Given the description of an element on the screen output the (x, y) to click on. 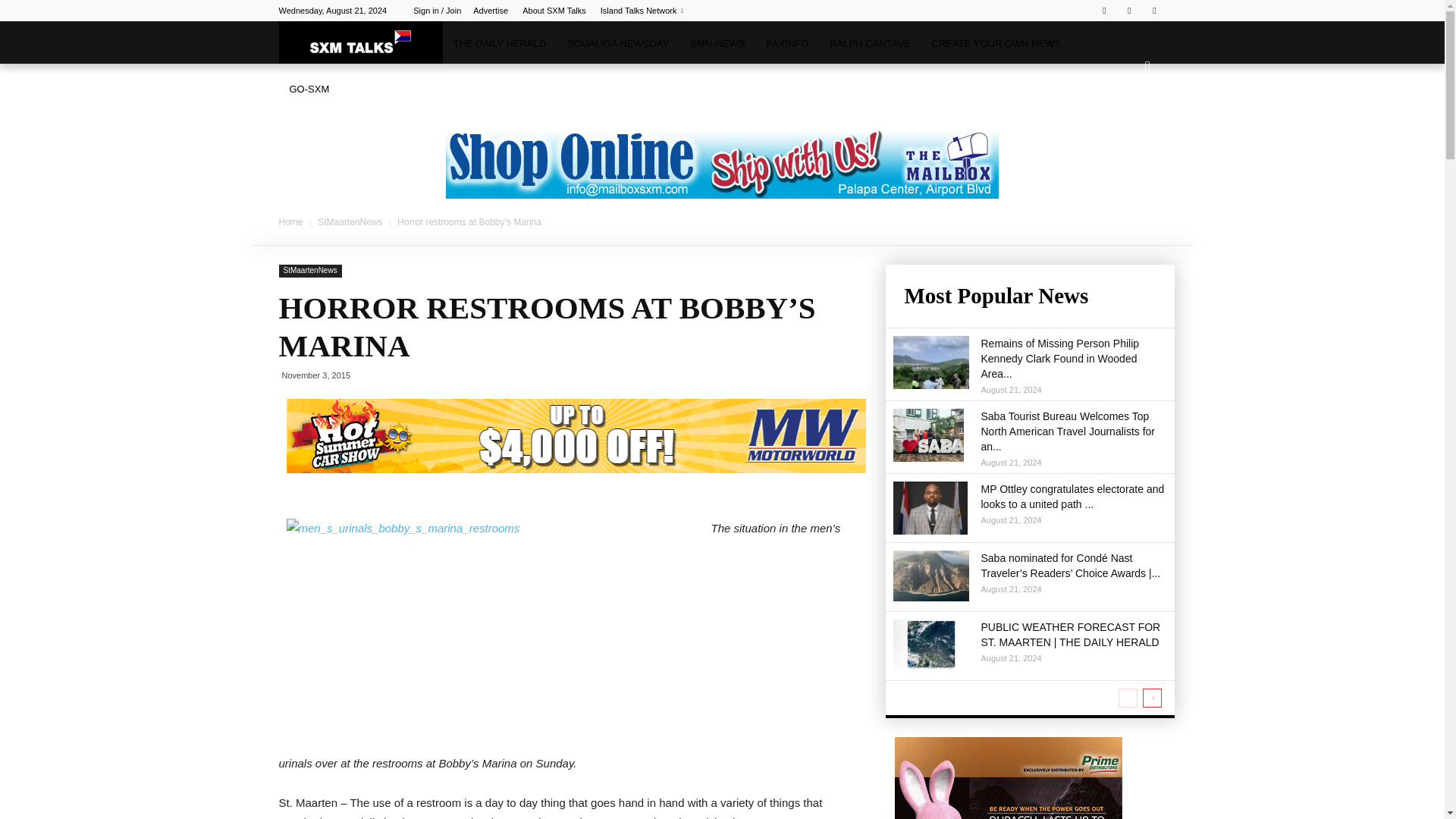
SXM Talks (360, 42)
Youtube (1154, 10)
Twitter (1129, 10)
Advertise (490, 10)
THE DAILY HERALD (499, 43)
RALPH CANTAVE (869, 43)
SOUALIGA NEWSDAY (617, 43)
FAXINFO (787, 43)
SMN-NEWS (717, 43)
Island Talks Network (641, 10)
